Given the description of an element on the screen output the (x, y) to click on. 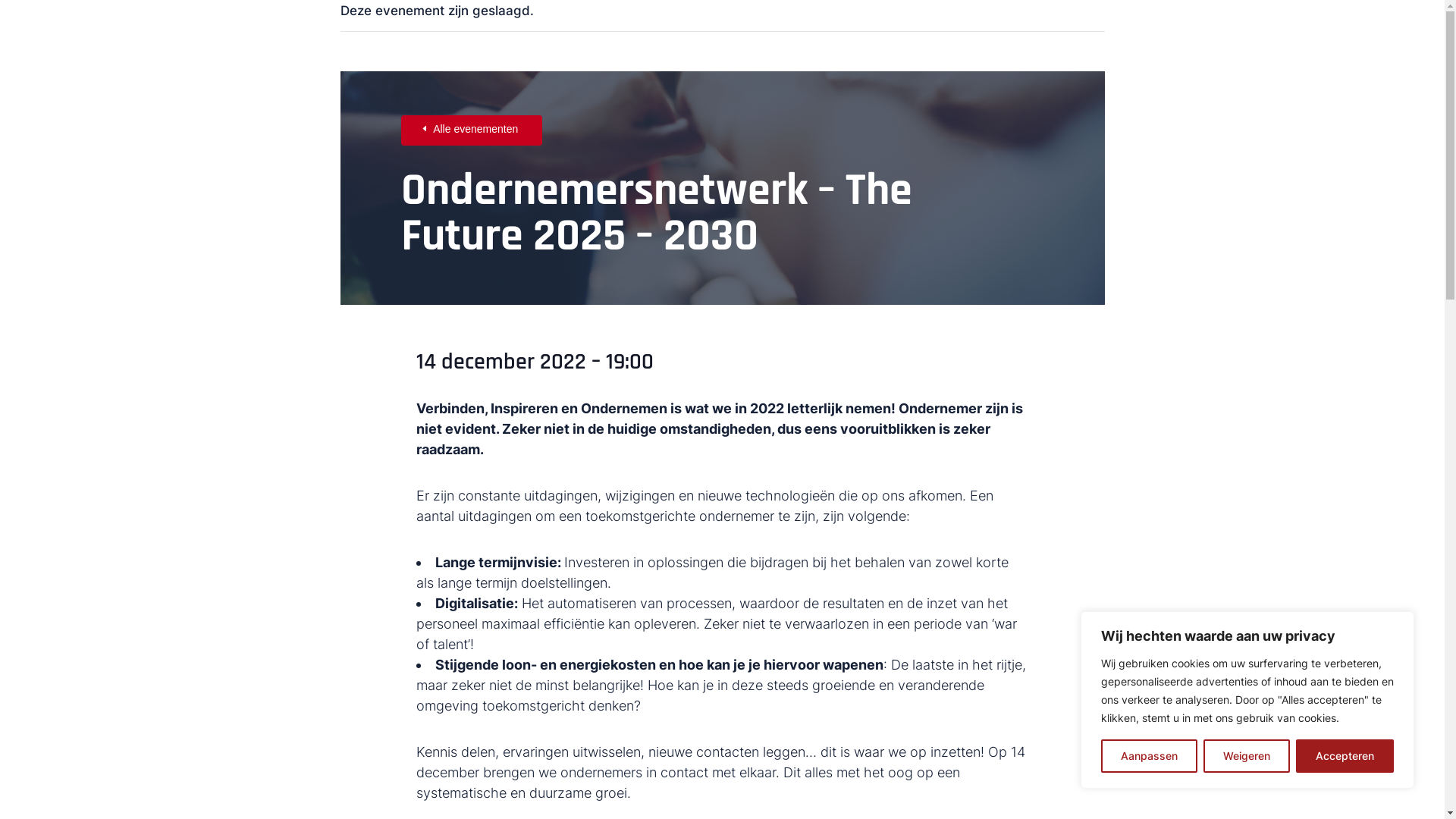
Accepteren Element type: text (1344, 755)
Alle evenementen Element type: text (471, 130)
Weigeren Element type: text (1246, 755)
Aanpassen Element type: text (1149, 755)
